Given the description of an element on the screen output the (x, y) to click on. 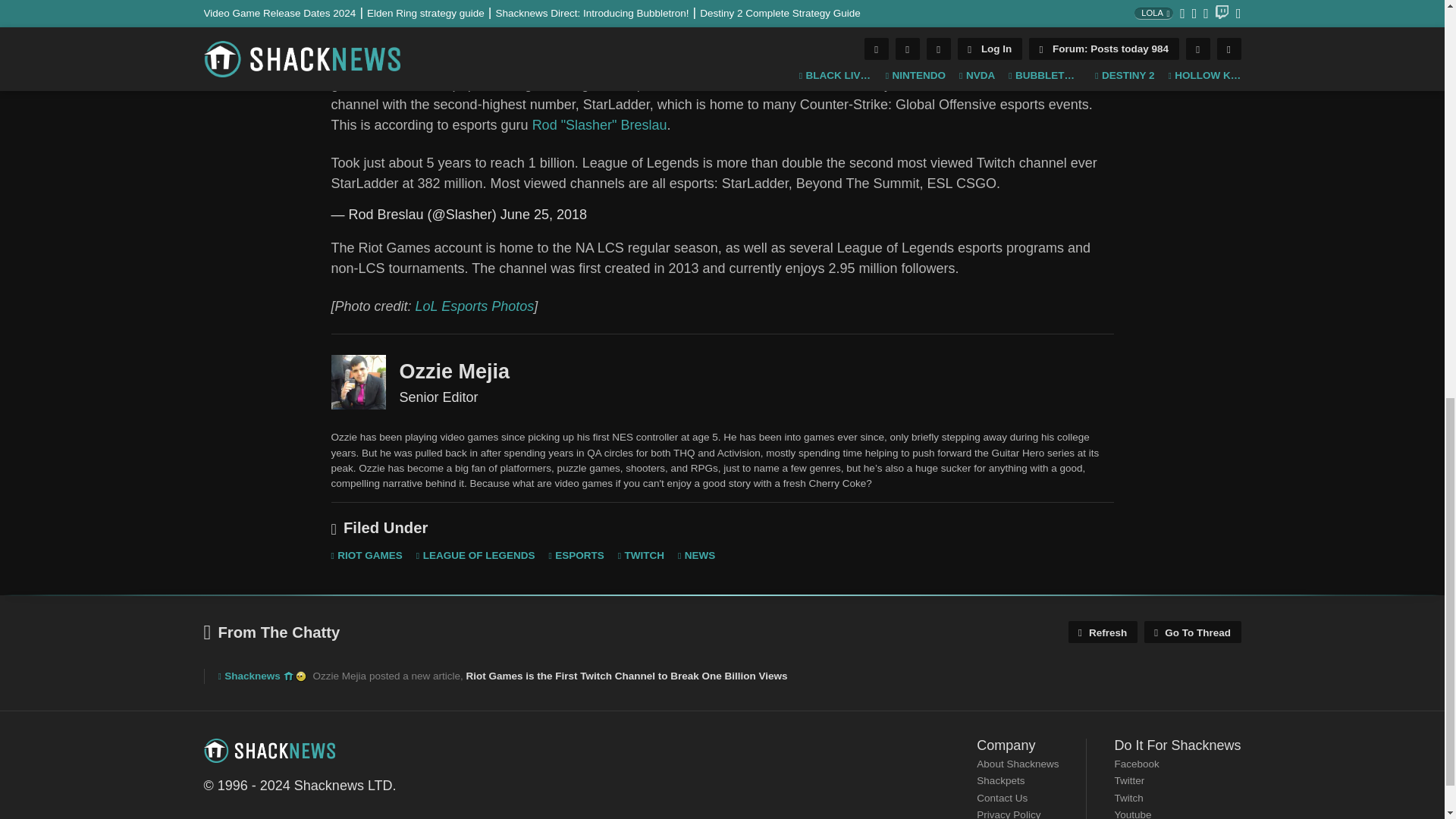
legacy 20 years (300, 675)
Senior Editor (357, 381)
legacy 10 years (288, 675)
